Given the description of an element on the screen output the (x, y) to click on. 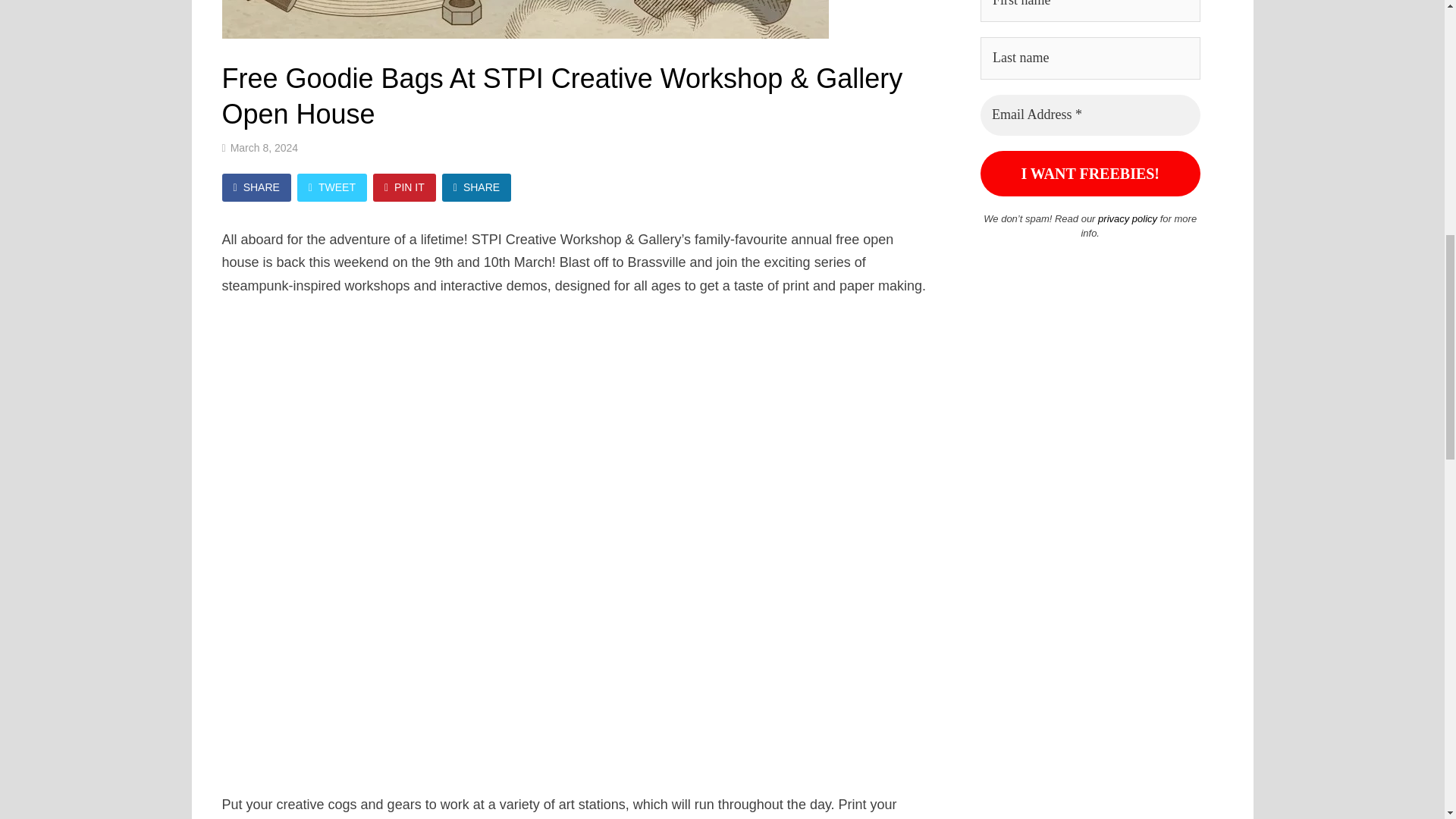
First name (1089, 11)
Email Address (1089, 115)
Last name (1089, 57)
I Want Freebies! (1089, 173)
